Given the description of an element on the screen output the (x, y) to click on. 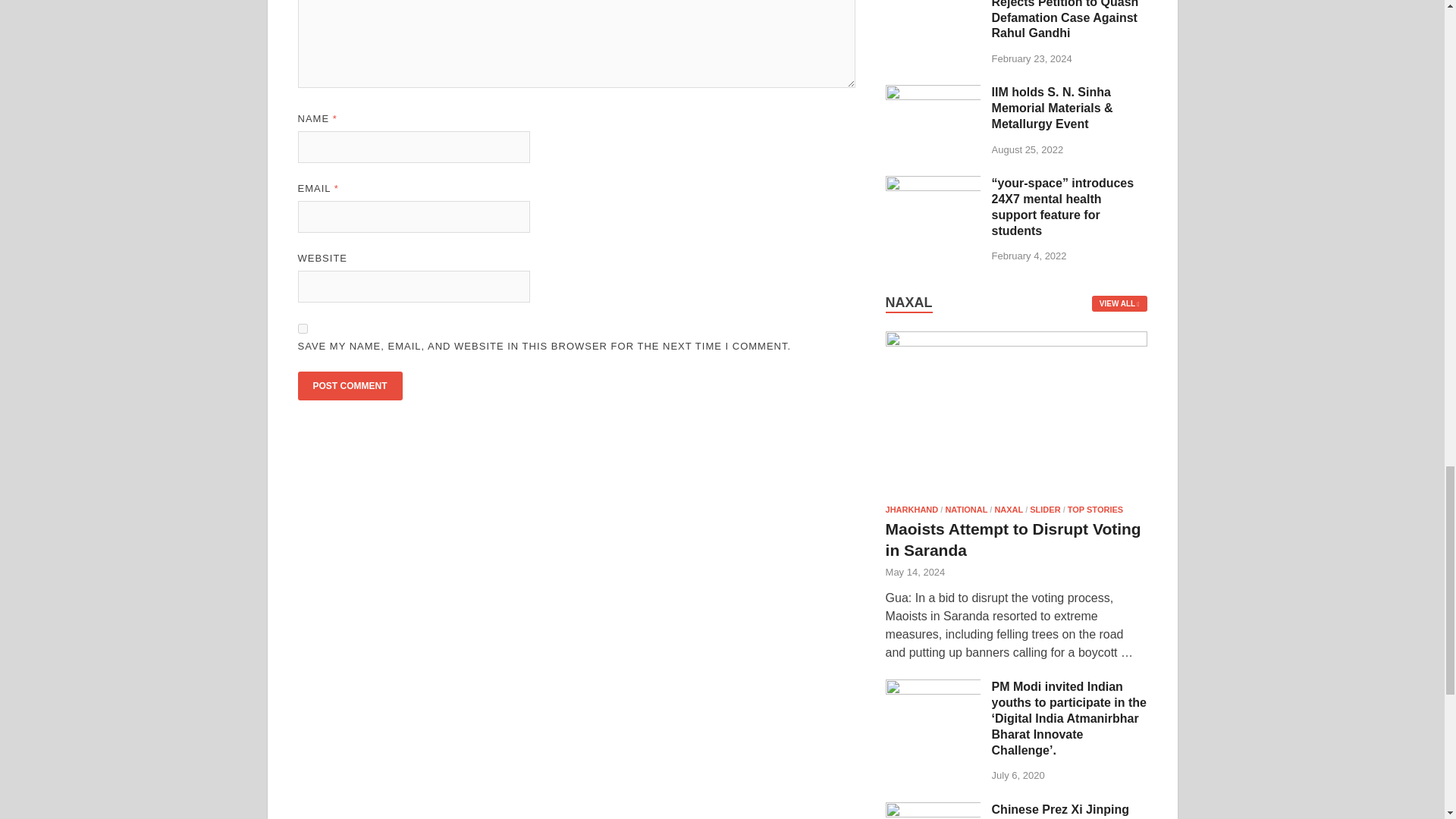
Post Comment (349, 385)
Post Comment (349, 385)
yes (302, 328)
